Given the description of an element on the screen output the (x, y) to click on. 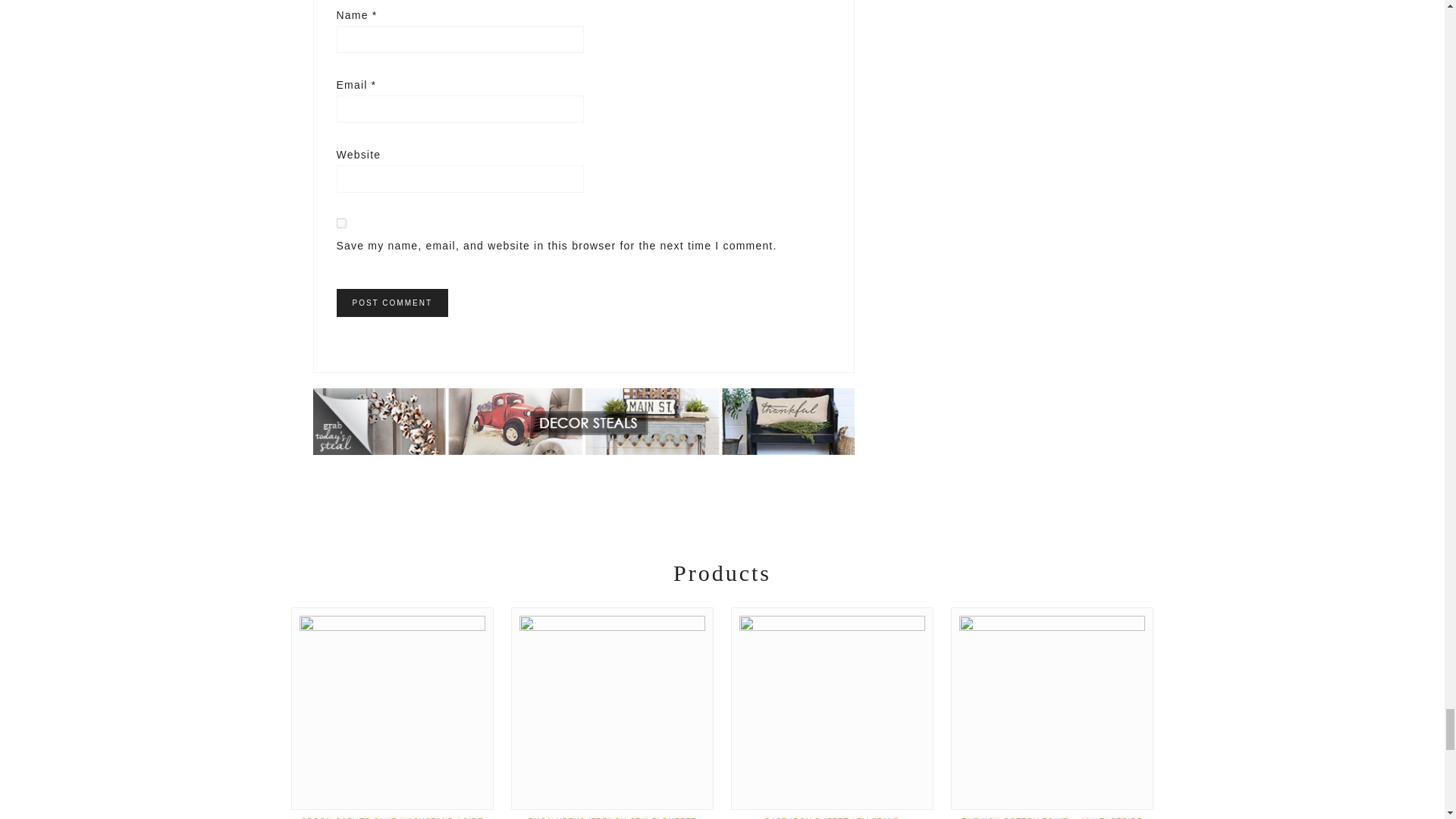
yes (341, 223)
Post Comment (392, 302)
